Given the description of an element on the screen output the (x, y) to click on. 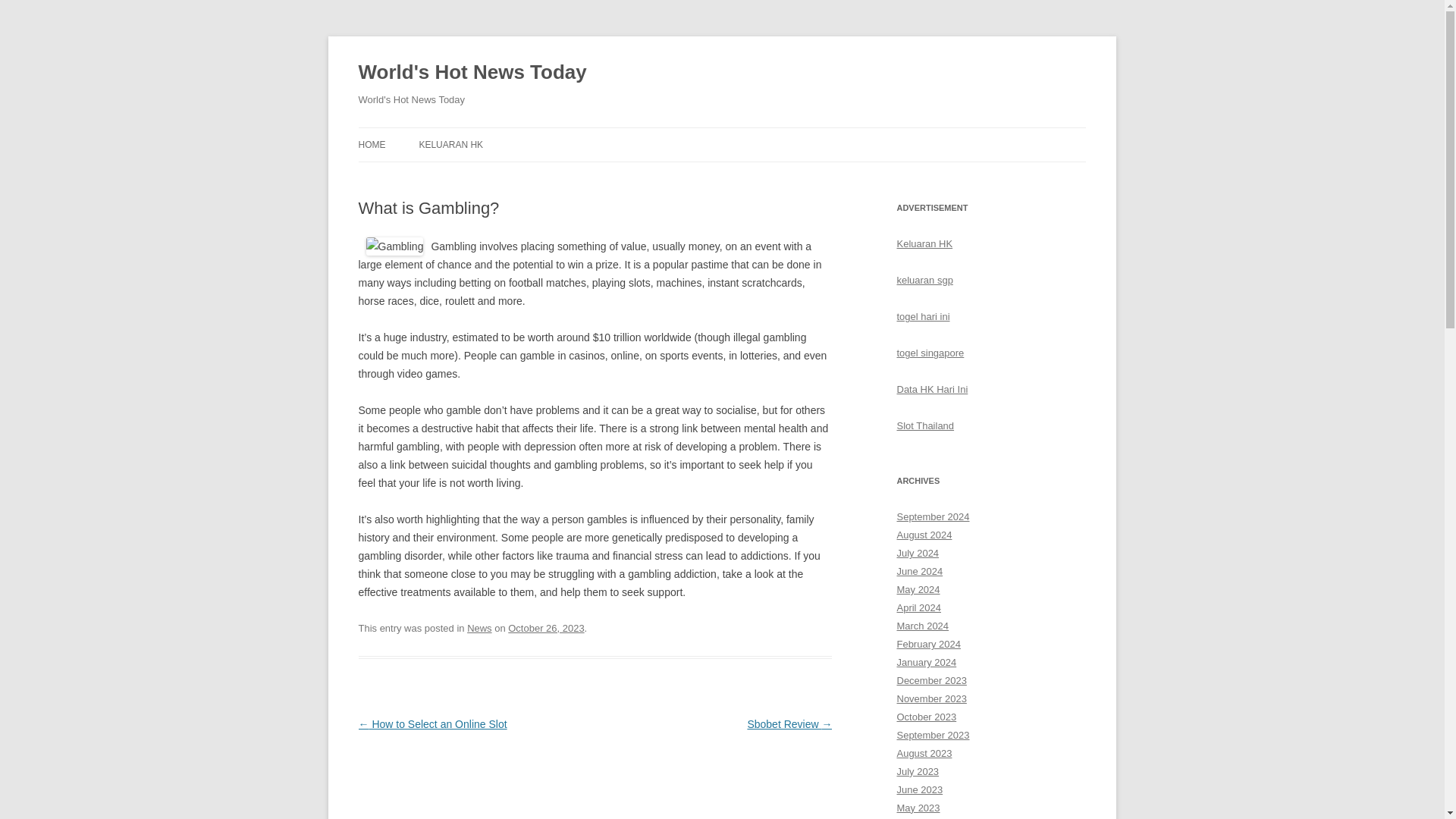
Keluaran HK (924, 243)
togel hari ini (922, 316)
June 2024 (919, 571)
January 2024 (926, 662)
May 2024 (917, 589)
November 2023 (931, 698)
togel singapore (929, 352)
keluaran sgp (924, 279)
News (479, 627)
